Given the description of an element on the screen output the (x, y) to click on. 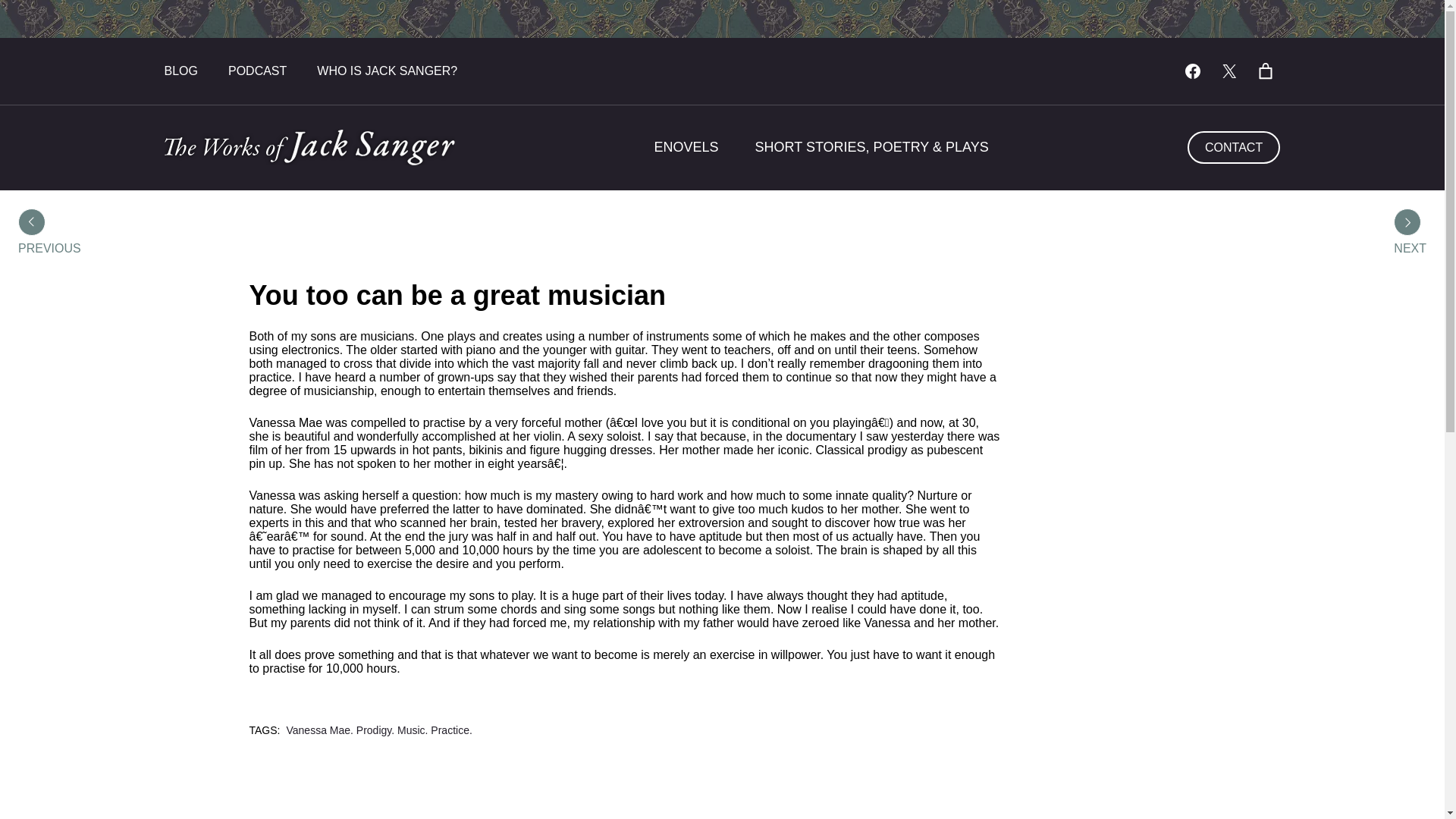
Vanessa Mae. Prodigy. Music. Practice. (378, 729)
X (1228, 71)
WHO IS JACK SANGER? (387, 70)
BLOG (179, 70)
Facebook (1191, 71)
ENOVELS (686, 147)
NEXT (1409, 248)
CONTACT (1234, 147)
PODCAST (257, 70)
PREVIOUS (49, 248)
